Given the description of an element on the screen output the (x, y) to click on. 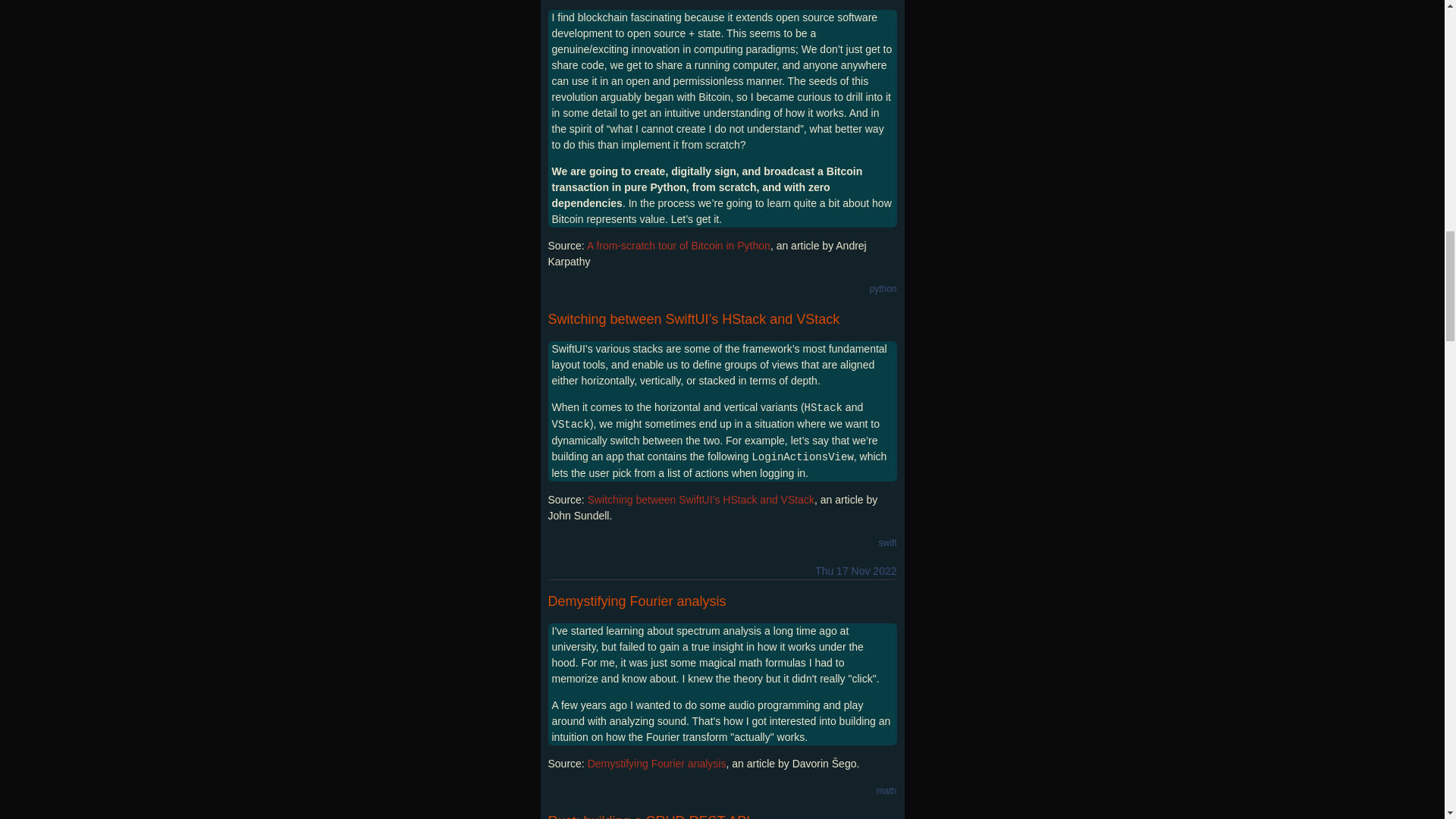
A from-scratch tour of Bitcoin in Python (678, 245)
python (882, 288)
